Given the description of an element on the screen output the (x, y) to click on. 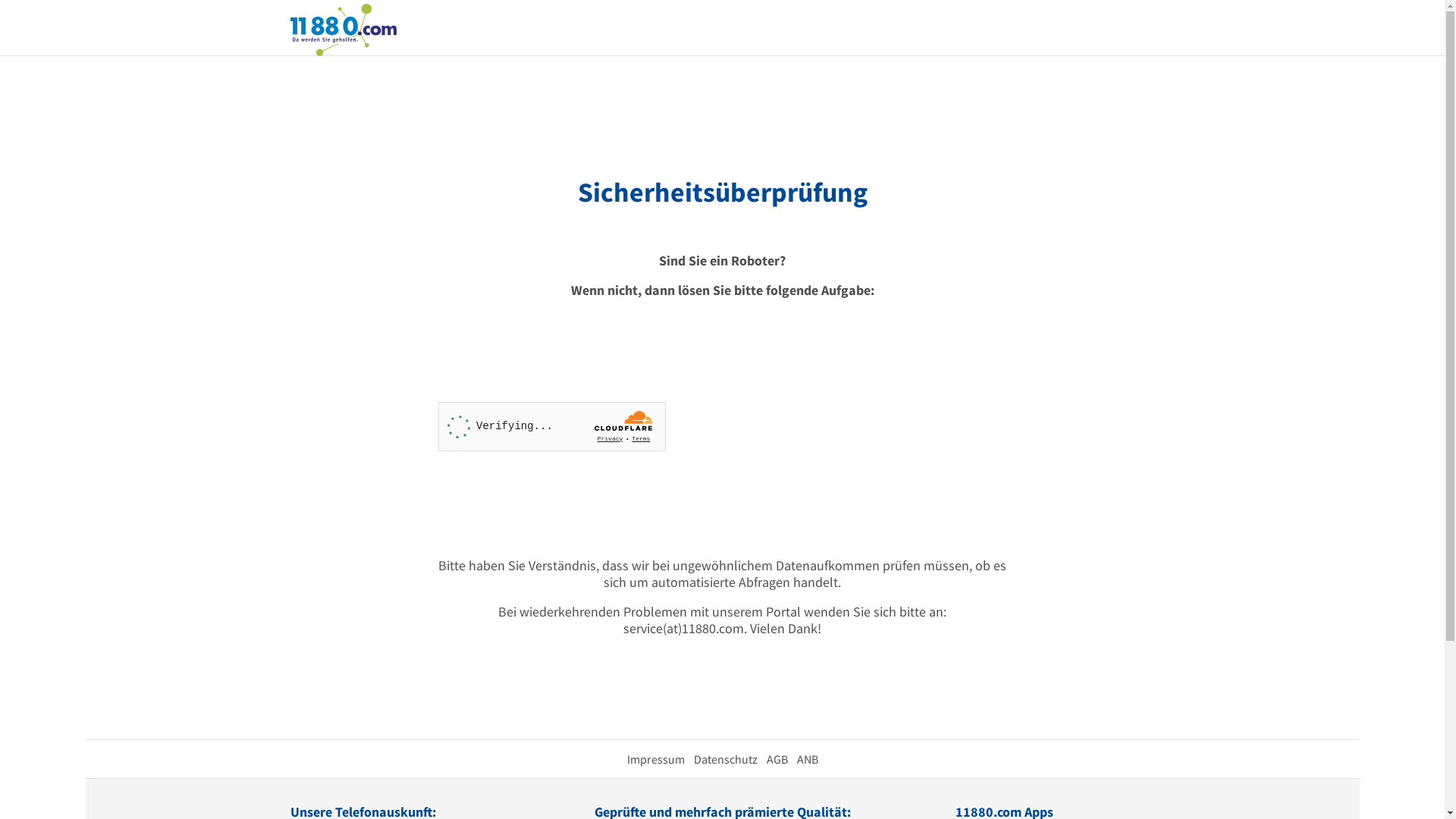
Datenschutz Element type: text (724, 758)
11880.com Element type: hover (342, 28)
ANB Element type: text (806, 758)
Impressum Element type: text (655, 758)
Widget containing a Cloudflare security challenge Element type: hover (551, 426)
AGB Element type: text (776, 758)
